Given the description of an element on the screen output the (x, y) to click on. 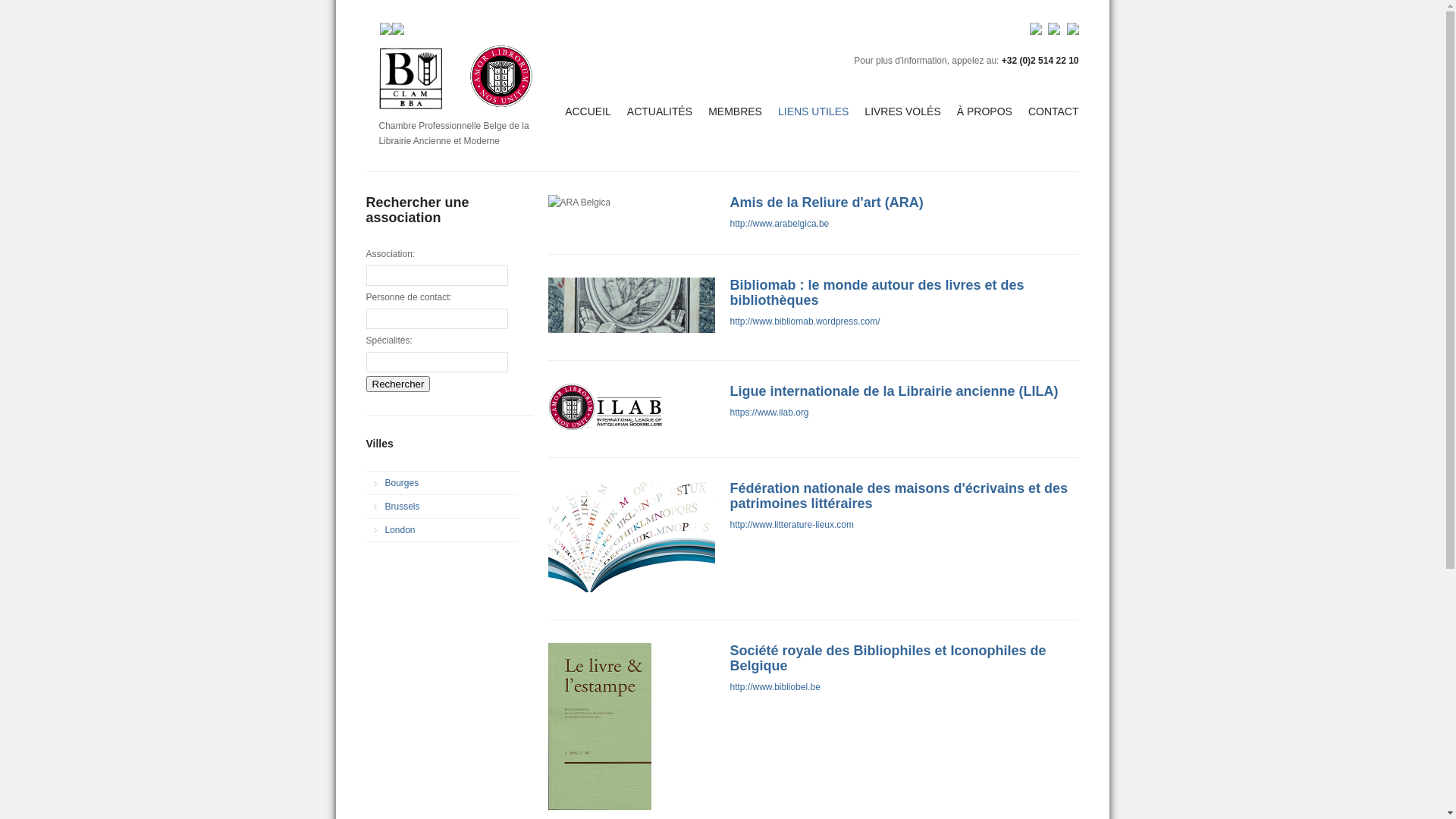
Facebook Element type: hover (385, 28)
ACCUEIL Element type: text (595, 110)
Bourges Element type: text (441, 482)
Ligue internationale de la Librairie ancienne (LILA) Element type: text (893, 390)
Brussels Element type: text (441, 506)
NL Element type: hover (1054, 31)
http://www.arabelgica.be Element type: text (778, 223)
London Element type: text (441, 529)
http://www.bibliobel.be Element type: text (774, 686)
Twitter Element type: hover (397, 28)
ARA Belgica Element type: hover (578, 202)
CONTACT Element type: text (1053, 110)
http://www.litterature-lieux.com Element type: text (791, 524)
MEMBRES Element type: text (743, 110)
EN Element type: hover (1070, 31)
Rechercher Element type: text (397, 384)
https://www.ilab.org Element type: text (768, 412)
http://www.bibliomab.wordpress.com/ Element type: text (804, 321)
Amis de la Reliure d'art (ARA) Element type: text (825, 202)
LIENS UTILES Element type: text (821, 110)
International League of Antiquarian Booksellers (ILAB) Element type: hover (605, 406)
FR Element type: hover (1037, 31)
